Given the description of an element on the screen output the (x, y) to click on. 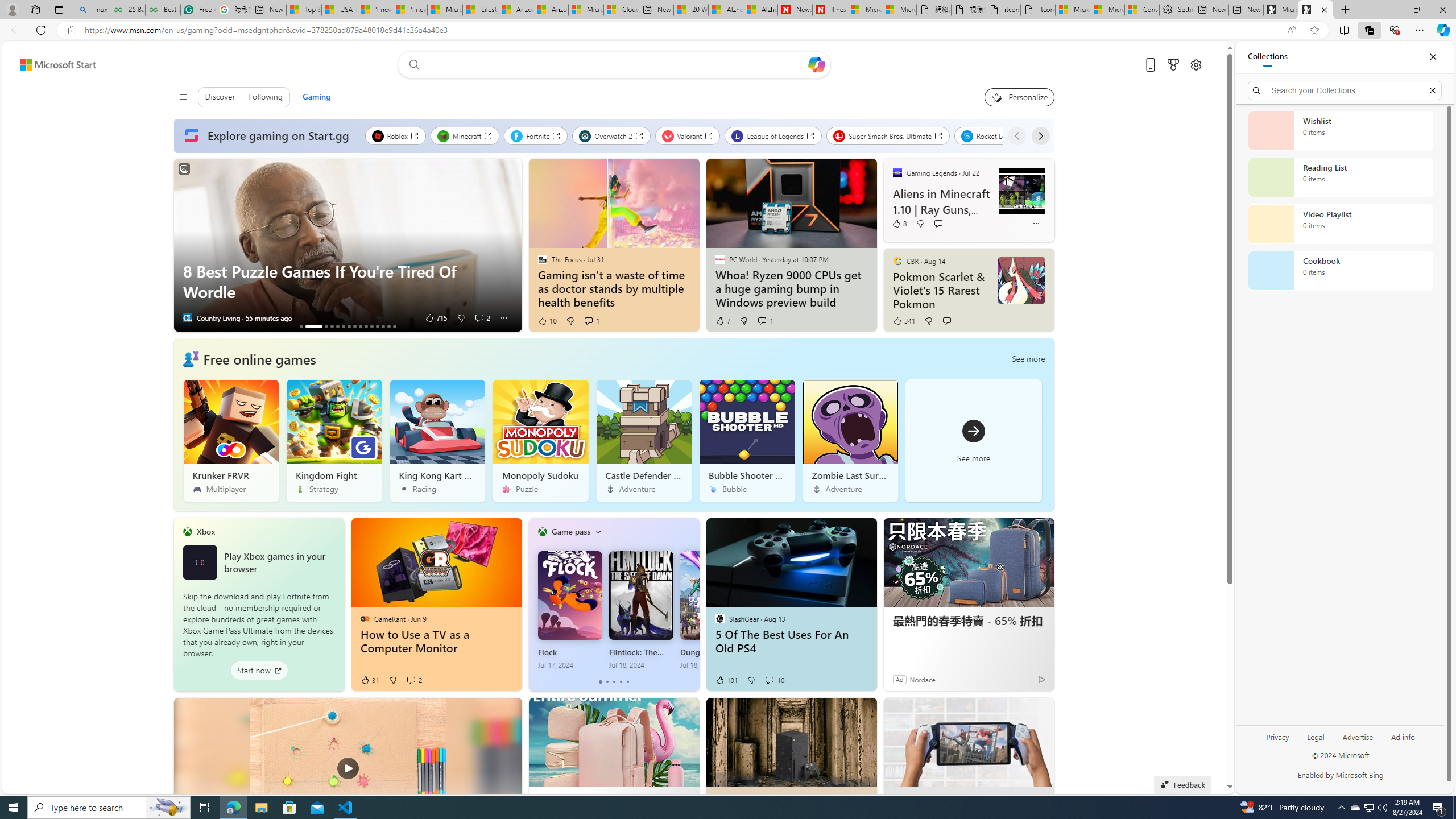
Explore gaming on Start.gg (269, 135)
Gaming (316, 97)
Super Smash Bros. Ultimate (888, 135)
15 Surprising Benefits of Playing Video Games (394, 326)
Class: previous-flipper (533, 604)
View comments 2 Comment (413, 680)
25 Basic Linux Commands For Beginners - GeeksforGeeks (126, 9)
10 Like (547, 320)
View comments 10 Comment (769, 679)
